Given the description of an element on the screen output the (x, y) to click on. 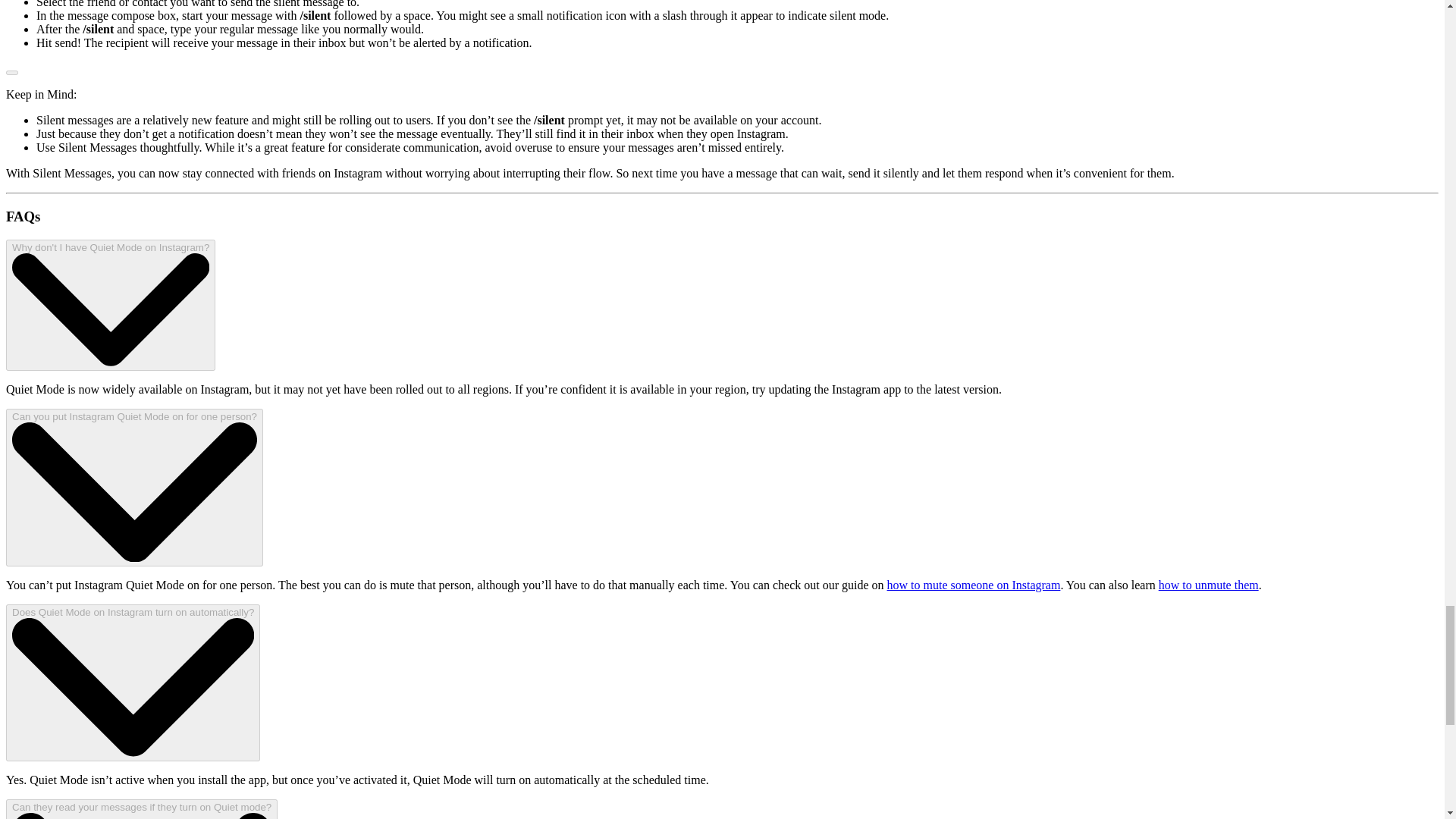
Can they read your messages if they turn on Quiet mode? (141, 809)
how to unmute them (1208, 584)
how to mute someone on Instagram (973, 584)
Why don't I have Quiet Mode on Instagram? (110, 305)
Does Quiet Mode on Instagram turn on automatically? (132, 682)
Can you put Instagram Quiet Mode on for one person? (134, 487)
